Given the description of an element on the screen output the (x, y) to click on. 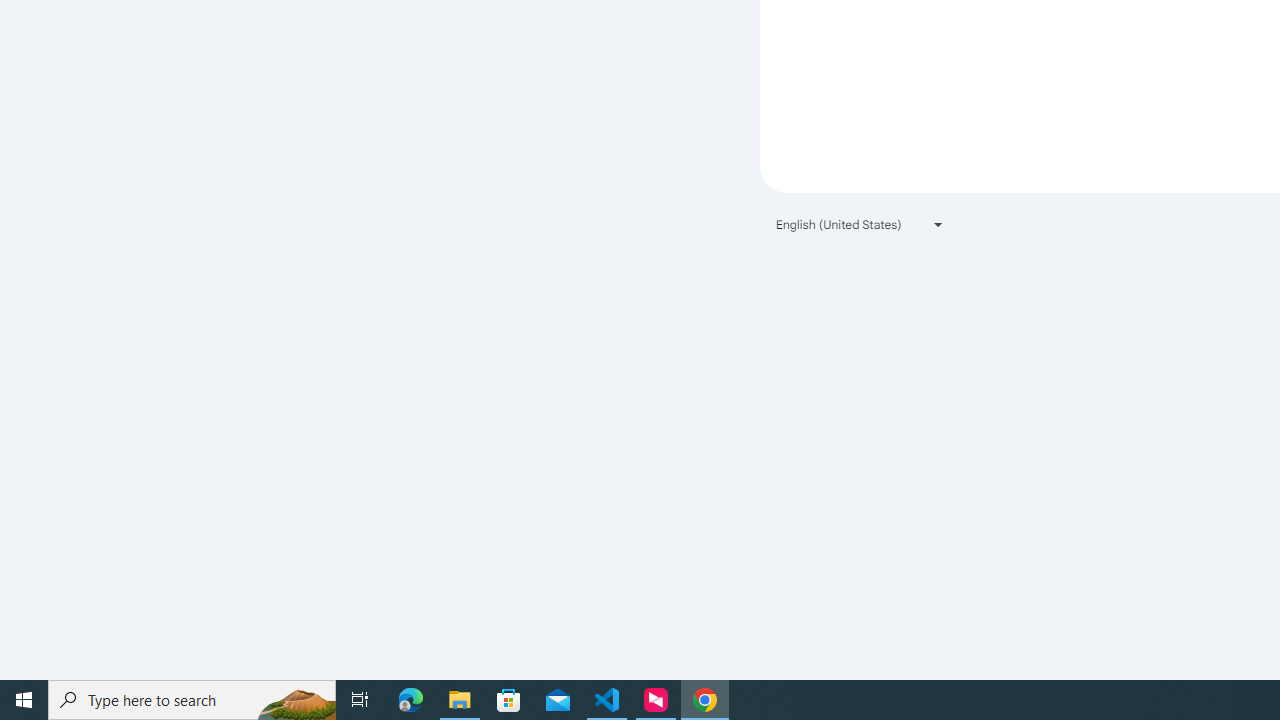
English (United States) (860, 224)
